Given the description of an element on the screen output the (x, y) to click on. 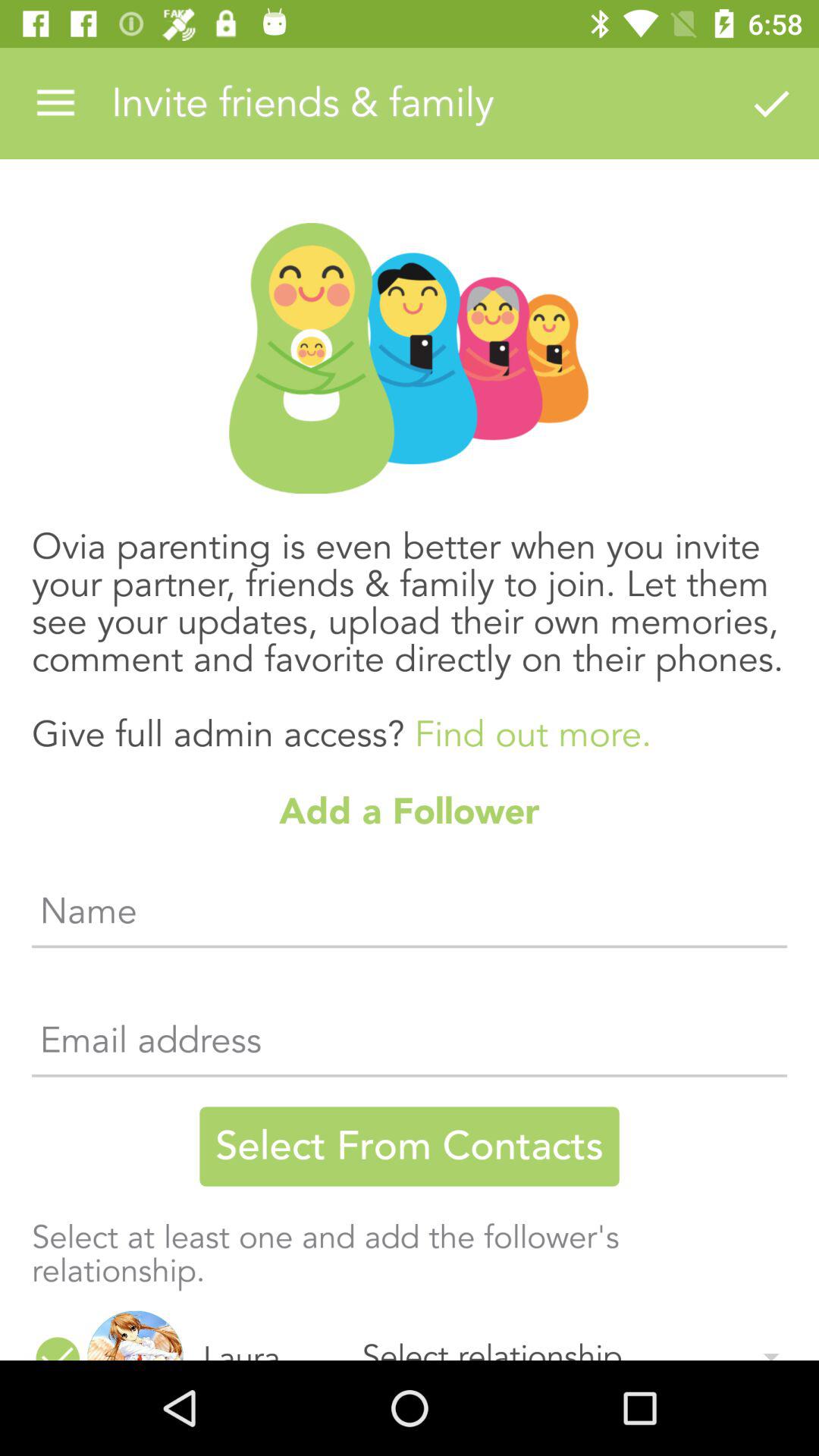
swipe until the ovia parenting is item (409, 625)
